Given the description of an element on the screen output the (x, y) to click on. 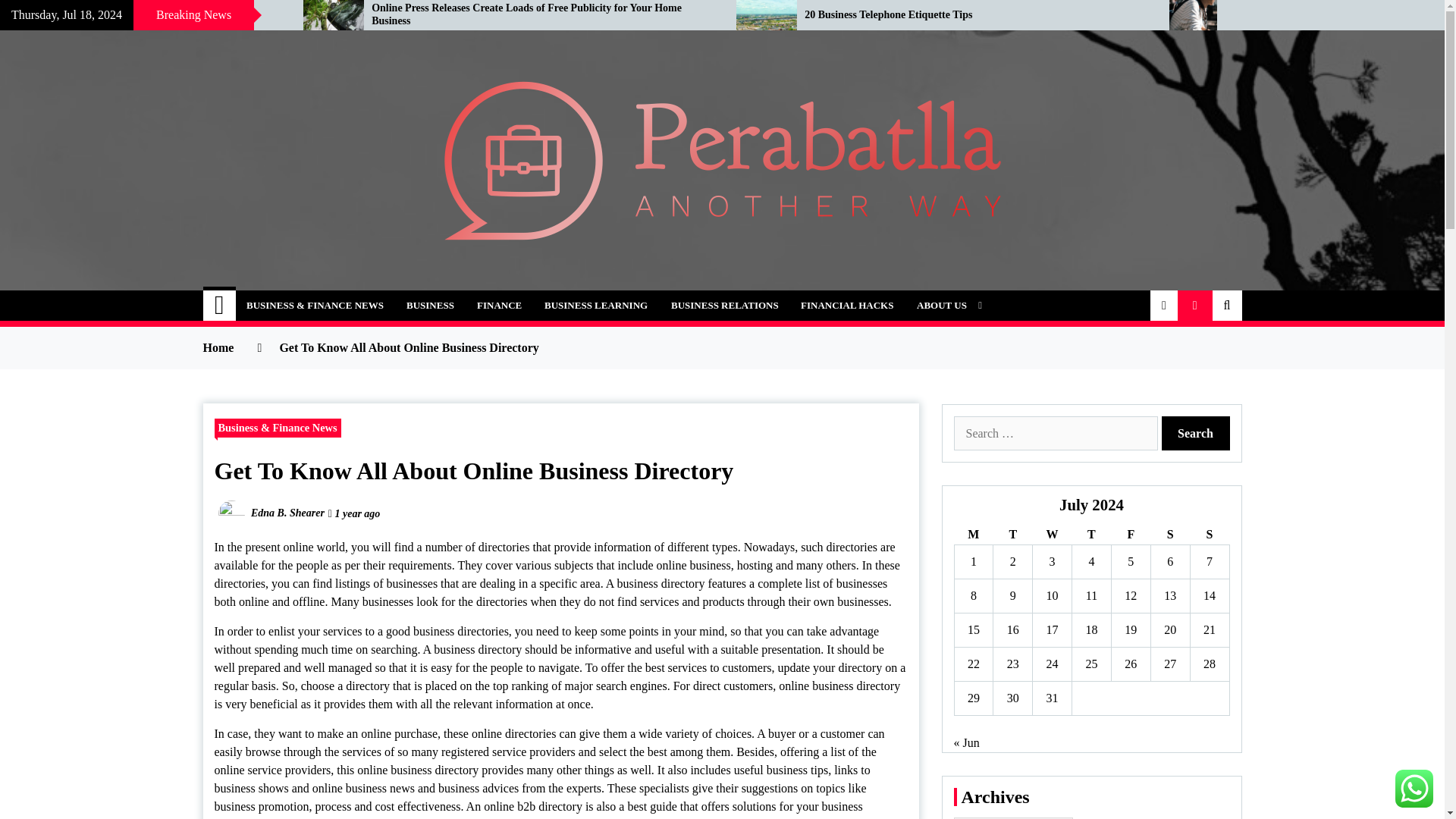
Thursday (1091, 534)
Everything You Need to Know About Davenport Laroche (140, 15)
Tuesday (1012, 534)
Saturday (1169, 534)
Friday (1130, 534)
Sunday (1208, 534)
20 Business Telephone Etiquette Tips (976, 15)
Search (1195, 433)
Wednesday (1051, 534)
Search (1195, 433)
Monday (972, 534)
Home (219, 305)
